Given the description of an element on the screen output the (x, y) to click on. 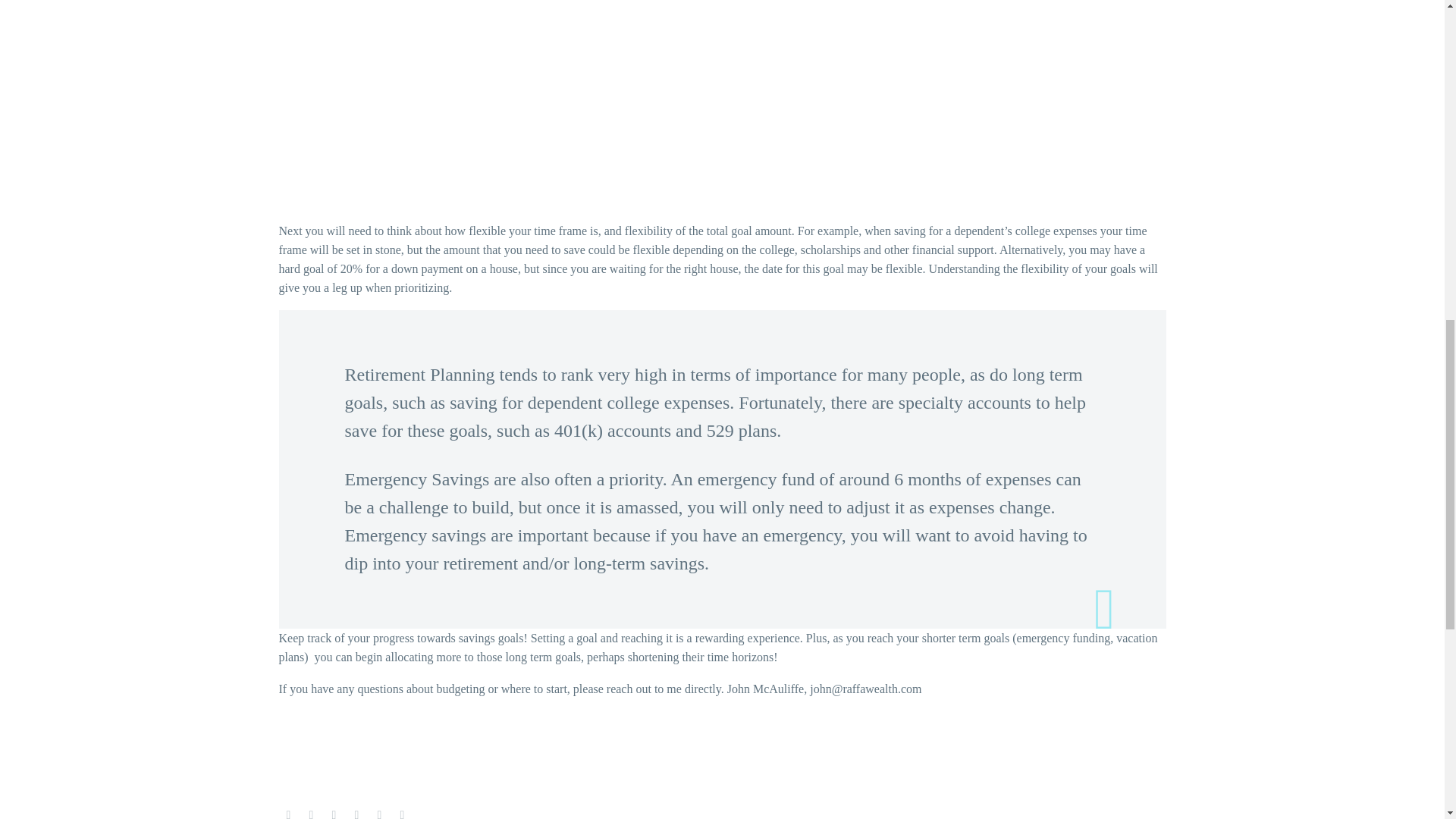
Twitter (310, 814)
Reddit (401, 814)
LinkedIn (378, 814)
Tumblr (356, 814)
Pinterest (333, 814)
Facebook (288, 814)
